Given the description of an element on the screen output the (x, y) to click on. 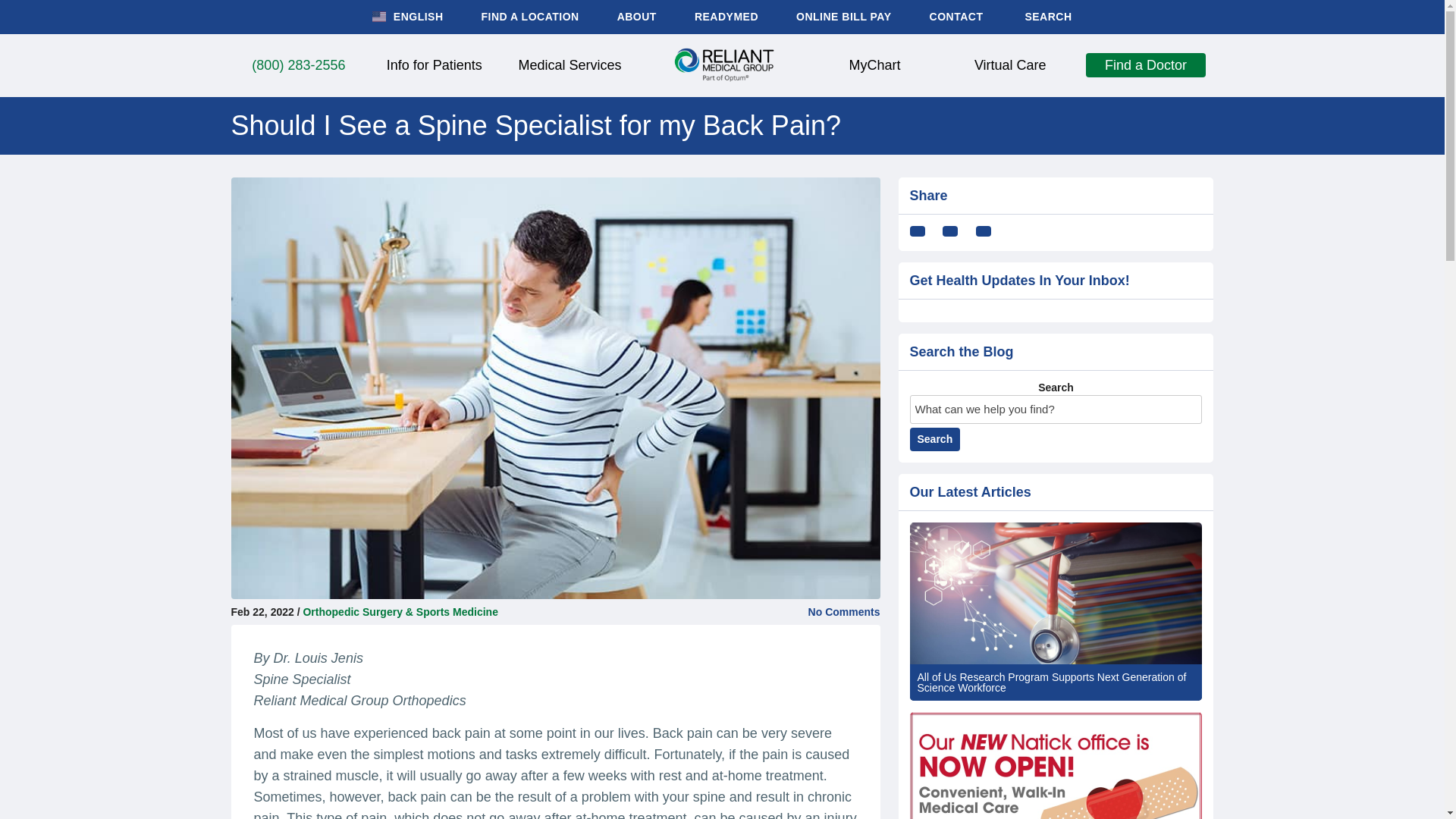
ENGLISH (407, 17)
SEARCH (1045, 17)
FIND A LOCATION (530, 17)
CONTACT (957, 17)
Info for Patients (434, 65)
ABOUT (636, 17)
ONLINE BILL PAY (843, 17)
READYMED (726, 17)
